Given the description of an element on the screen output the (x, y) to click on. 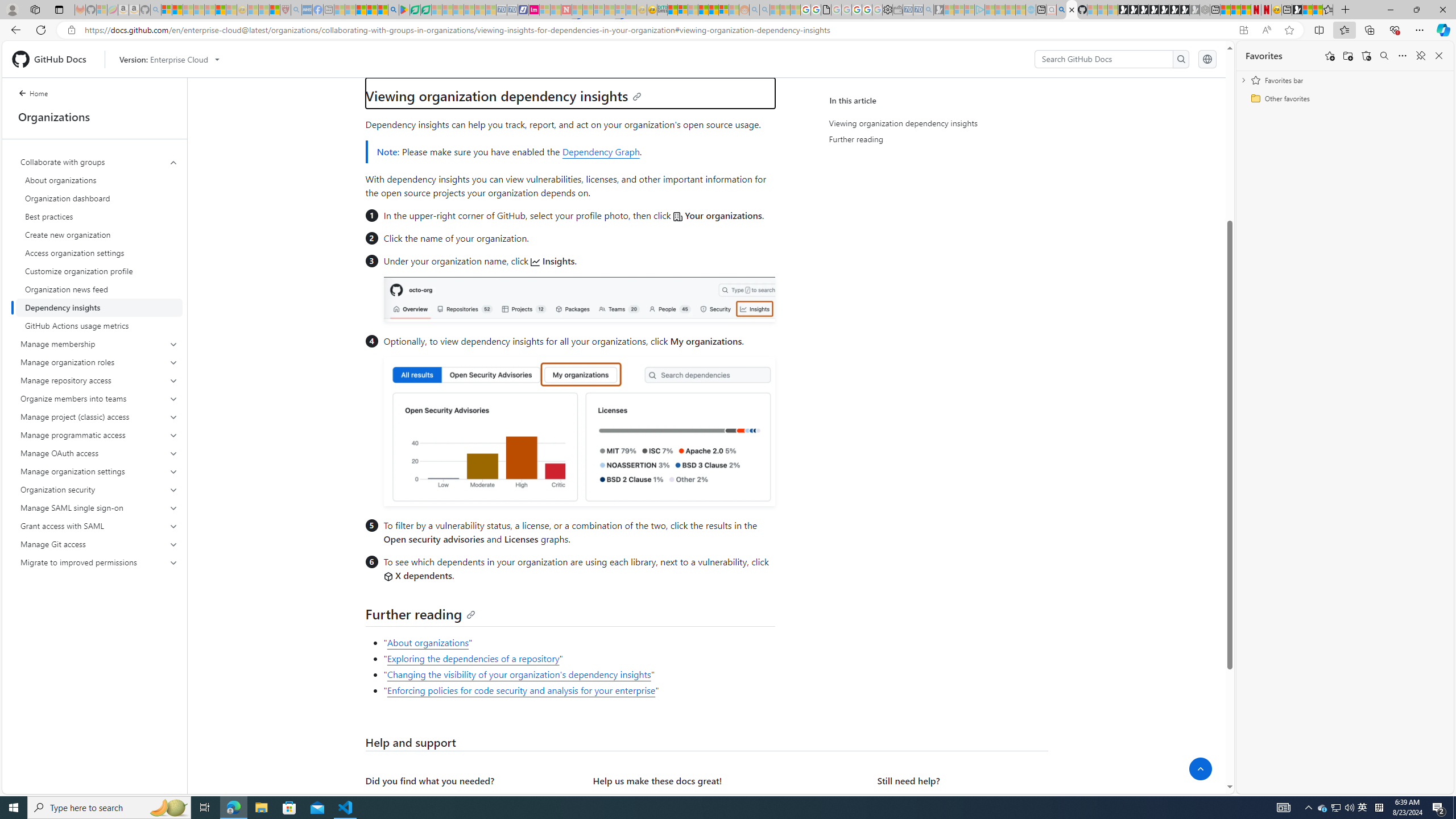
Jobs - lastminute.com Investor Portal (534, 9)
Dependency Graph (600, 151)
Organizations (94, 116)
Manage Git access (99, 543)
